Given the description of an element on the screen output the (x, y) to click on. 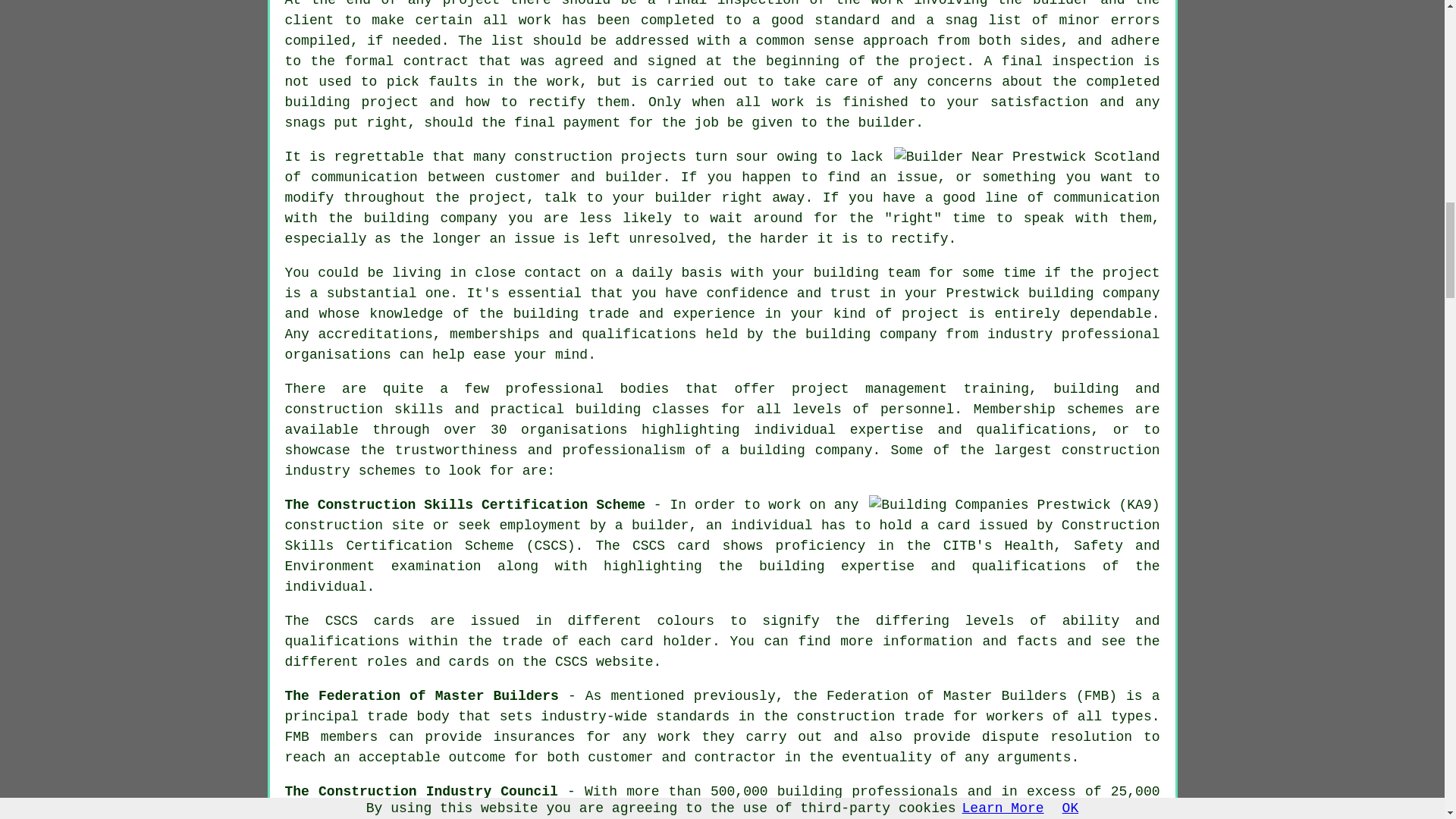
Builder Near Prestwick Scotland (1026, 157)
